Given the description of an element on the screen output the (x, y) to click on. 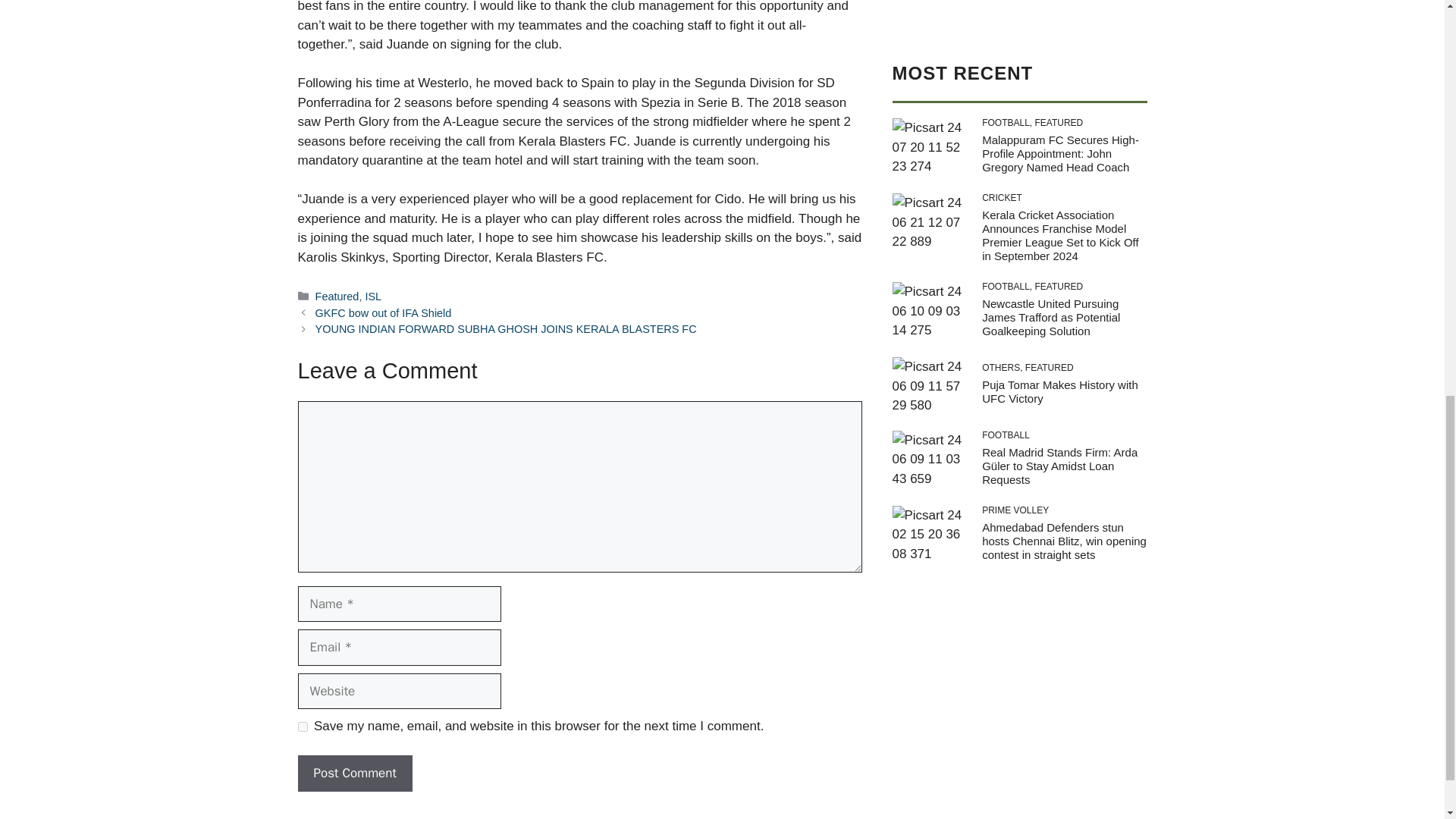
yes (302, 726)
Featured (337, 296)
Post Comment (354, 773)
Post Comment (354, 773)
ISL (373, 296)
YOUNG INDIAN FORWARD SUBHA GHOSH JOINS KERALA BLASTERS FC (506, 328)
GKFC bow out of IFA Shield (383, 313)
Puja Tomar Makes History with UFC Victory (1059, 114)
